Given the description of an element on the screen output the (x, y) to click on. 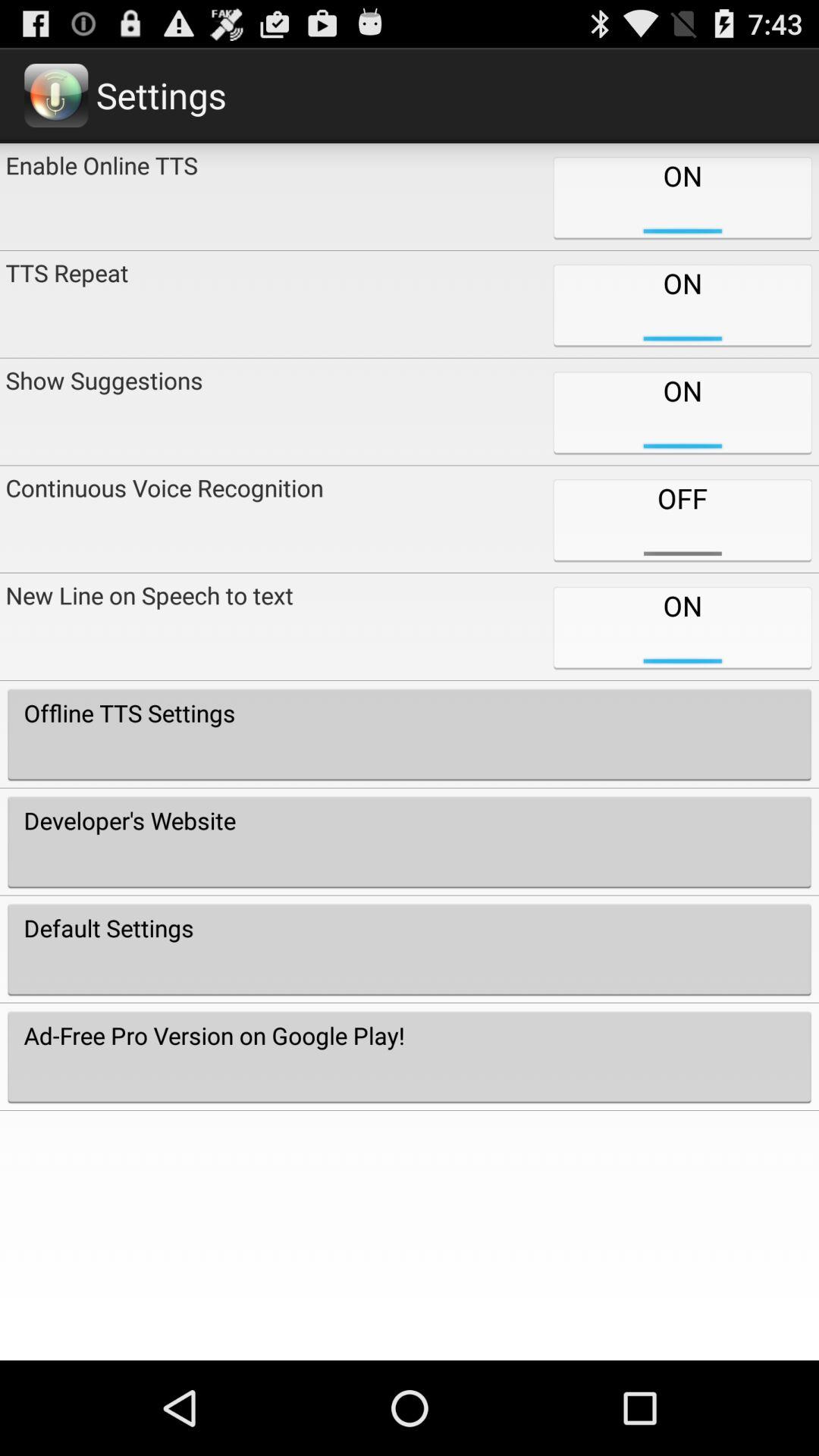
turn off icon below the default settings (409, 1056)
